Given the description of an element on the screen output the (x, y) to click on. 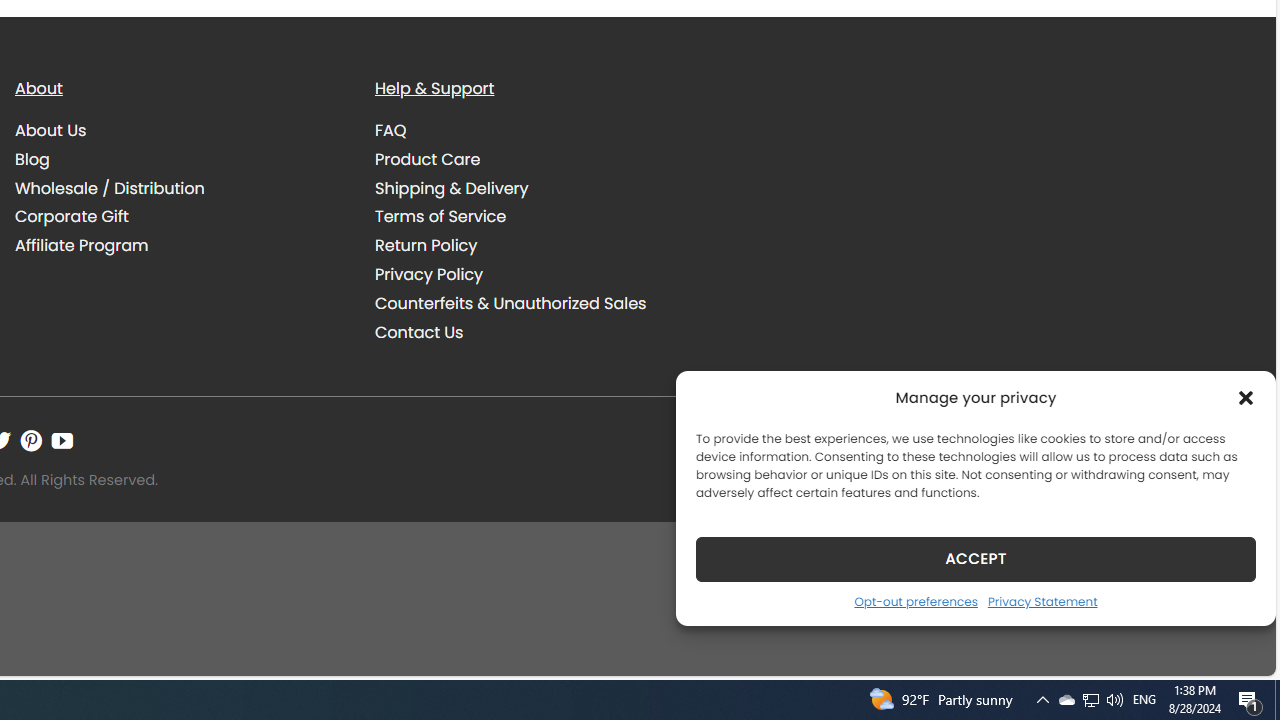
Affiliate Program (81, 245)
Class: cmplz-close (1245, 397)
Return Policy (426, 245)
Terms of Service (440, 216)
About Us (51, 130)
FAQ (391, 130)
ACCEPT (975, 558)
Follow on YouTube (61, 440)
Counterfeits & Unauthorized Sales (510, 302)
Terms of Service (540, 216)
Blog (180, 159)
Blog (32, 158)
Shipping & Delivery (540, 188)
Affiliate Program (180, 246)
Privacy Policy (540, 274)
